Given the description of an element on the screen output the (x, y) to click on. 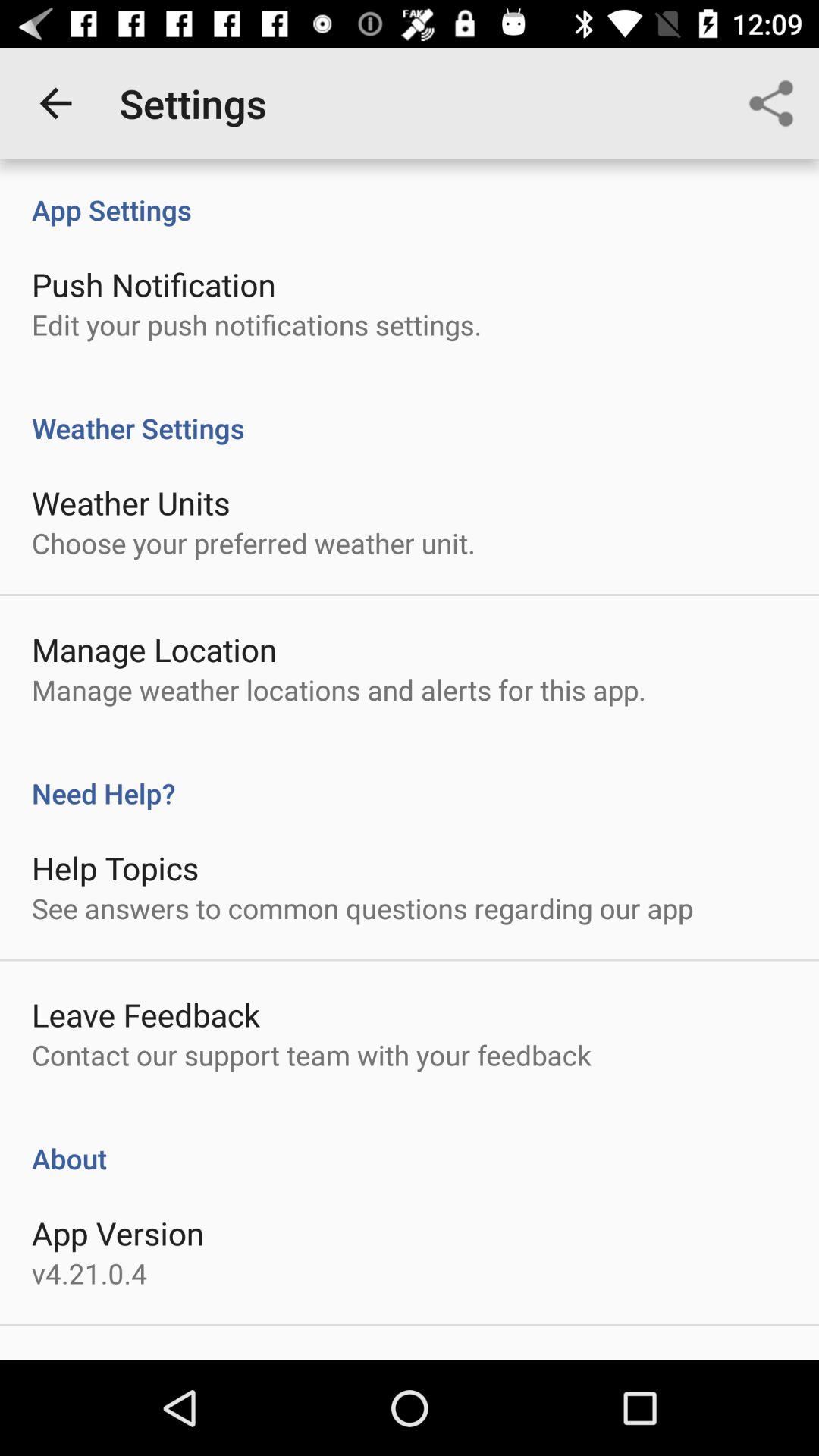
turn off icon next to the settings  icon (55, 103)
